Given the description of an element on the screen output the (x, y) to click on. 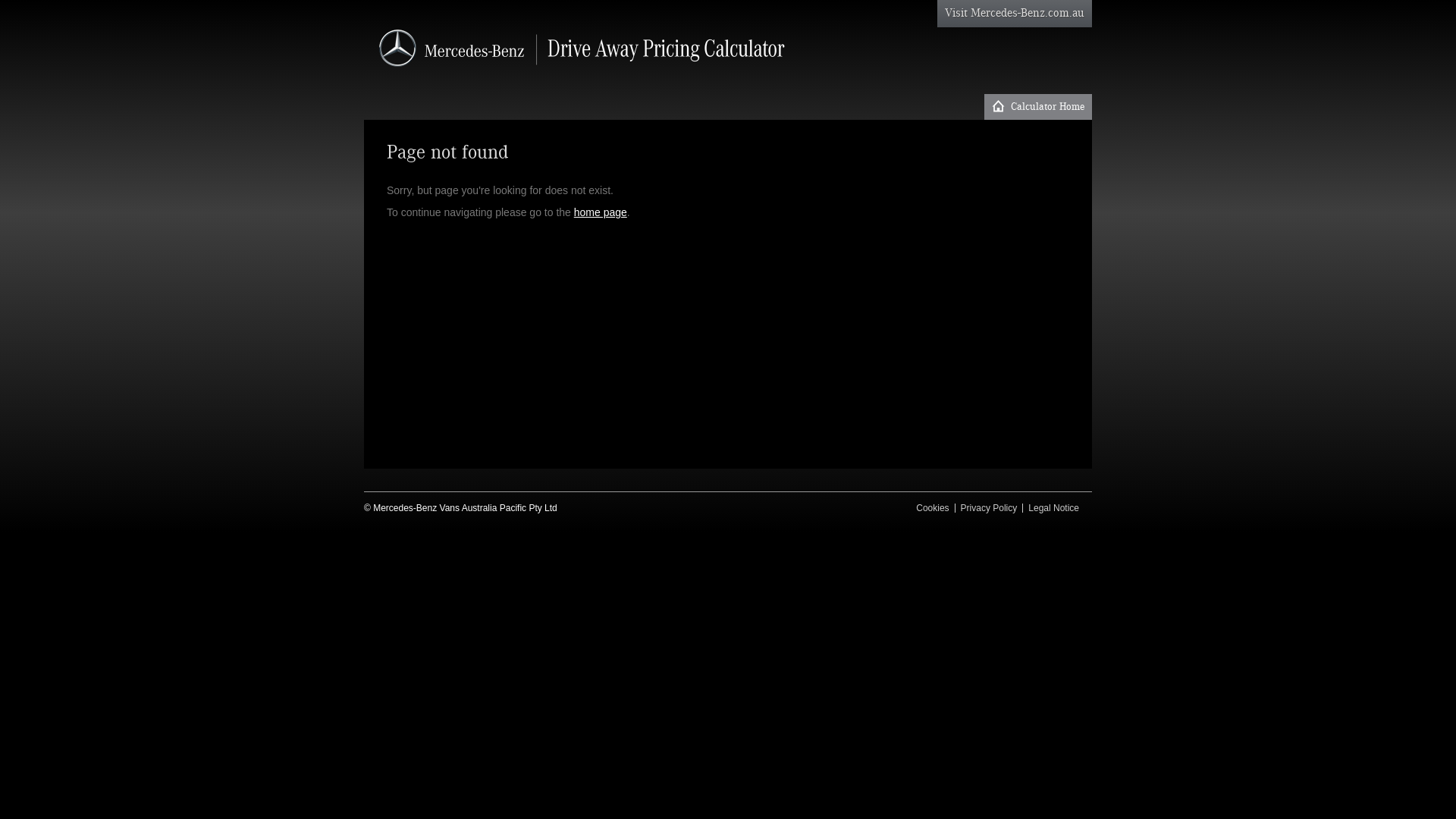
Visit Mercedes-Benz.com.au Element type: text (1014, 13)
Privacy Policy Element type: text (988, 507)
Cookies Element type: text (931, 507)
home page Element type: text (600, 212)
Calculator Home Element type: text (1038, 106)
Legal Notice Element type: text (1053, 507)
